Given the description of an element on the screen output the (x, y) to click on. 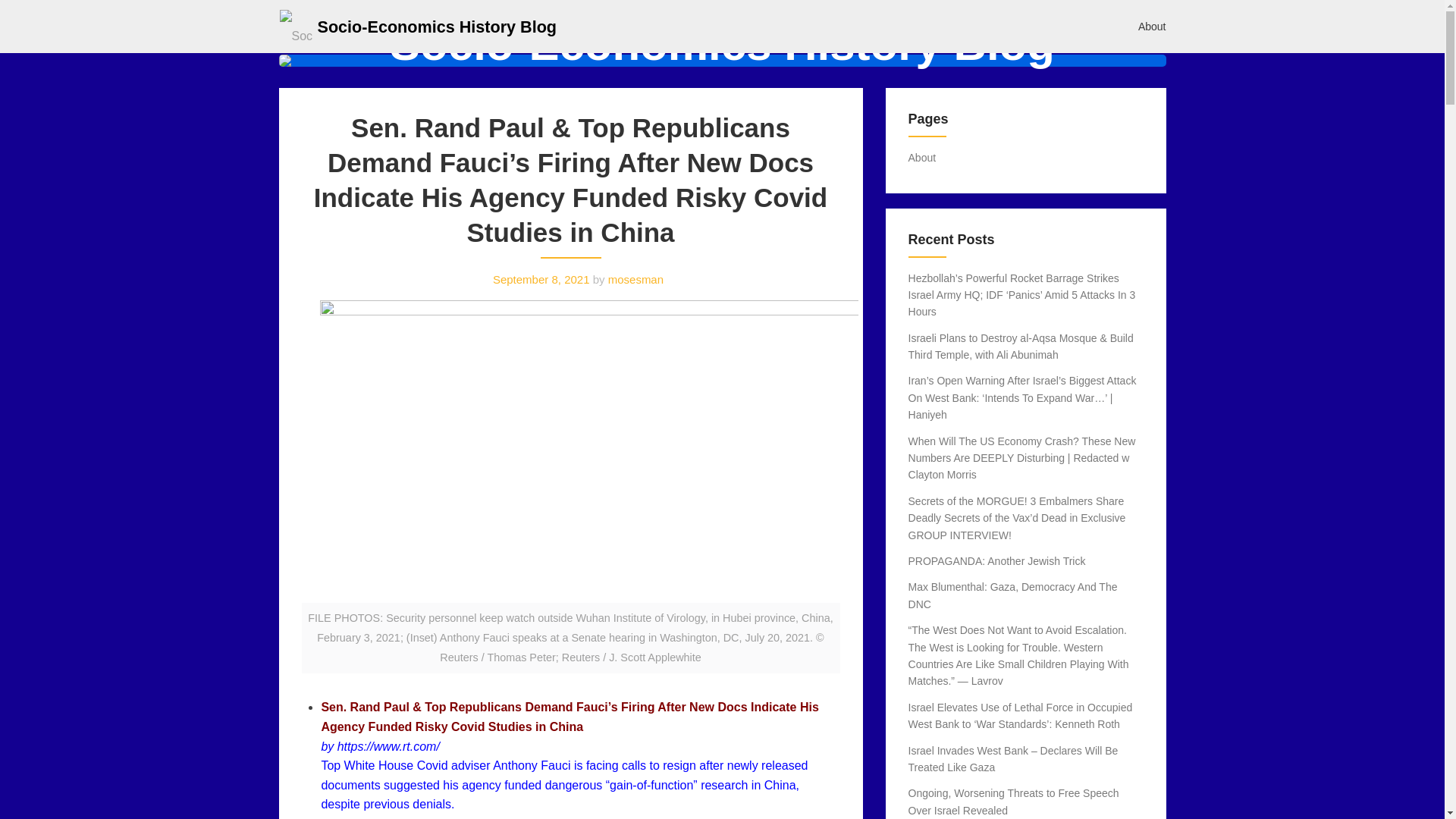
PROPAGANDA: Another Jewish Trick (997, 561)
Max Blumenthal: Gaza, Democracy And The DNC (1013, 594)
About (922, 157)
About (1151, 26)
Socio-Economics History Blog (436, 26)
September 8, 2021 (541, 278)
